Given the description of an element on the screen output the (x, y) to click on. 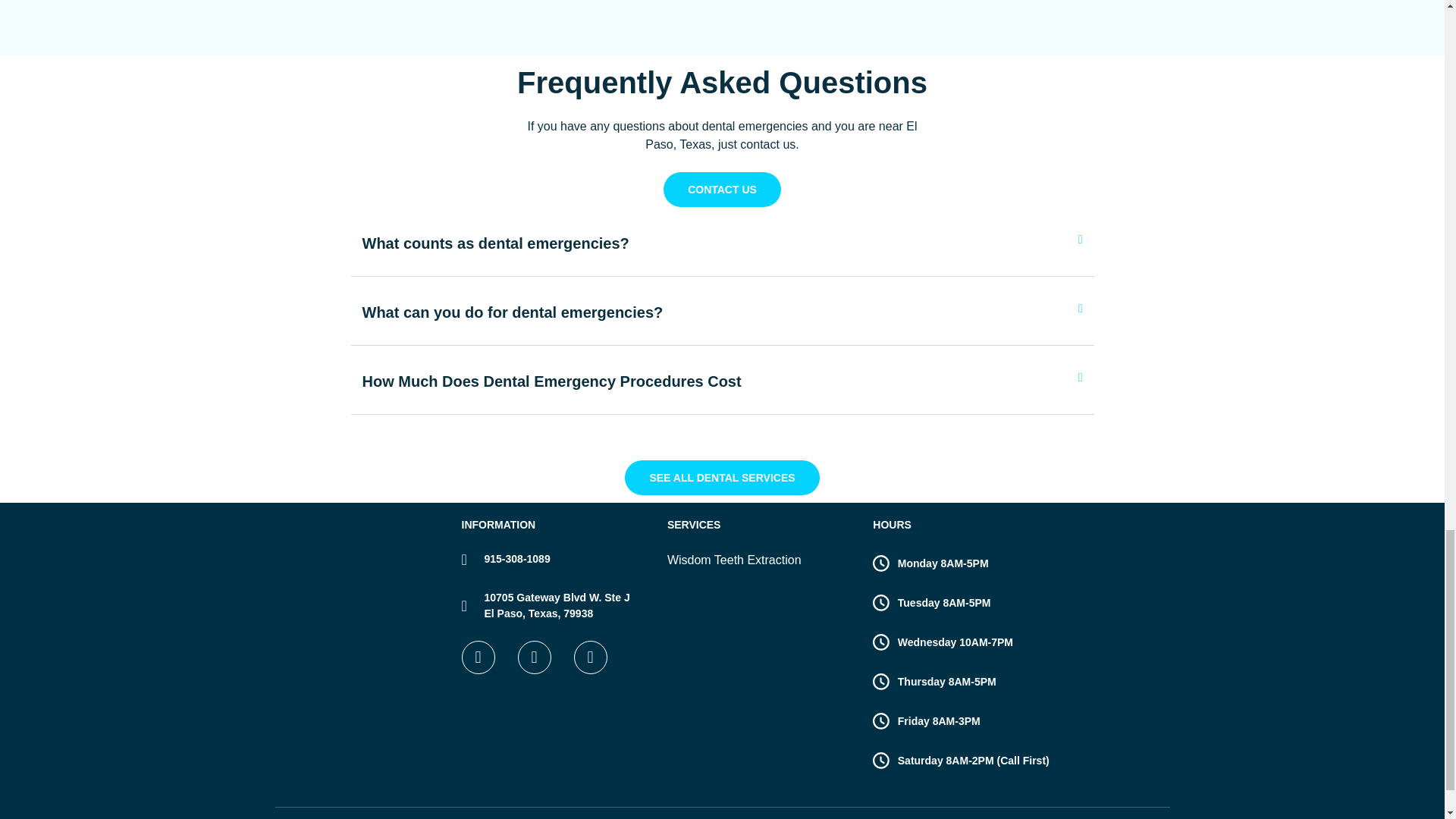
915-308-1089 (555, 559)
SEE ALL DENTAL SERVICES (721, 477)
Wisdom Teeth Extraction (761, 560)
What counts as dental emergencies? (495, 243)
What can you do for dental emergencies? (512, 312)
How Much Does Dental Emergency Procedures Cost (551, 381)
CONTACT US (721, 189)
